Given the description of an element on the screen output the (x, y) to click on. 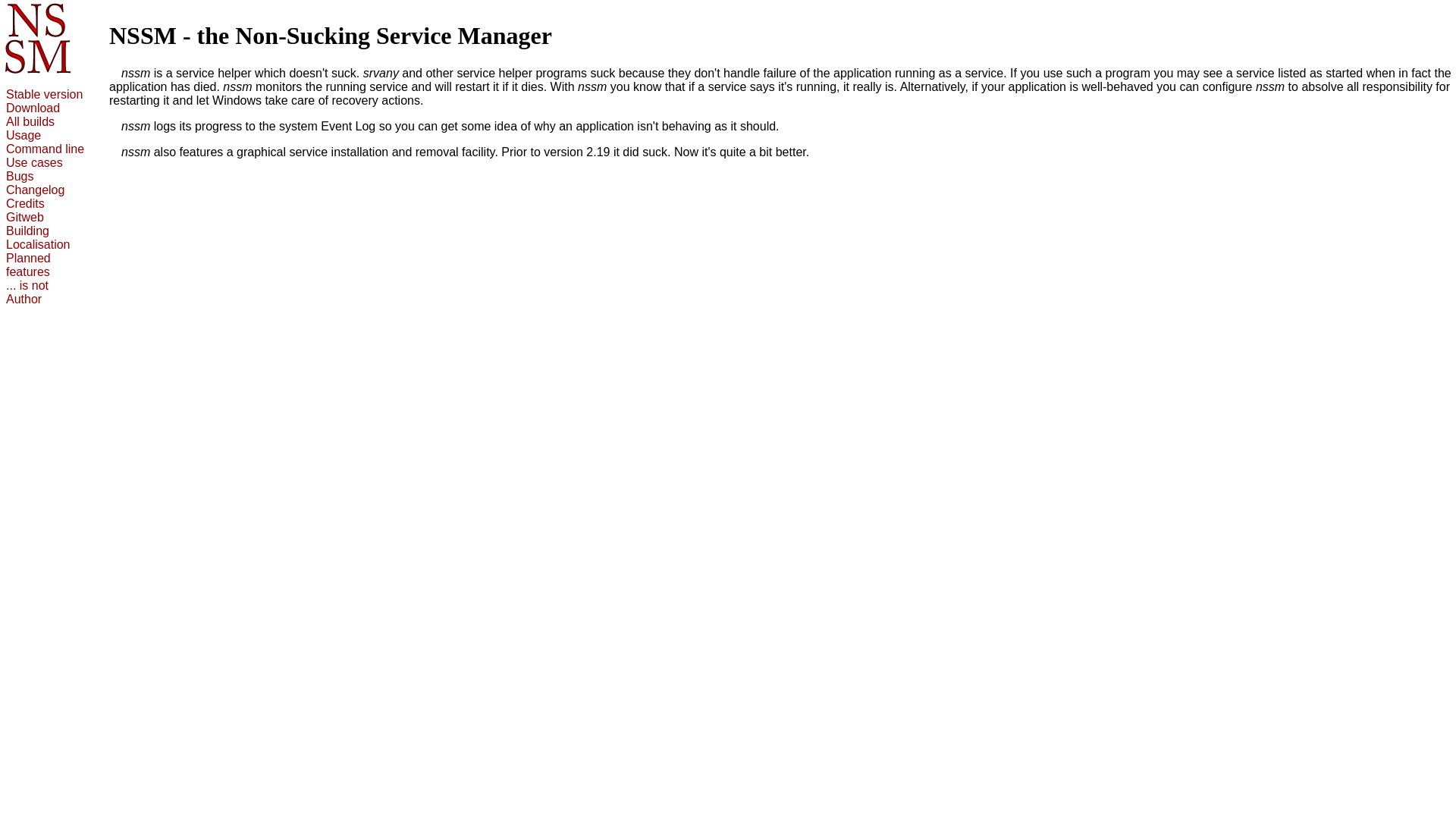
Planned features Element type: text (28, 264)
Use cases Element type: text (34, 162)
Changelog Element type: text (35, 189)
Credits Element type: text (25, 203)
Bugs Element type: text (19, 175)
Download Element type: text (32, 107)
Localisation Element type: text (38, 244)
Building Element type: text (27, 230)
Gitweb Element type: text (24, 216)
... is not Element type: text (27, 285)
All builds Element type: text (30, 121)
Usage Element type: text (23, 134)
Author Element type: text (23, 298)
Command line Element type: text (45, 148)
Stable version Element type: text (44, 93)
